Given the description of an element on the screen output the (x, y) to click on. 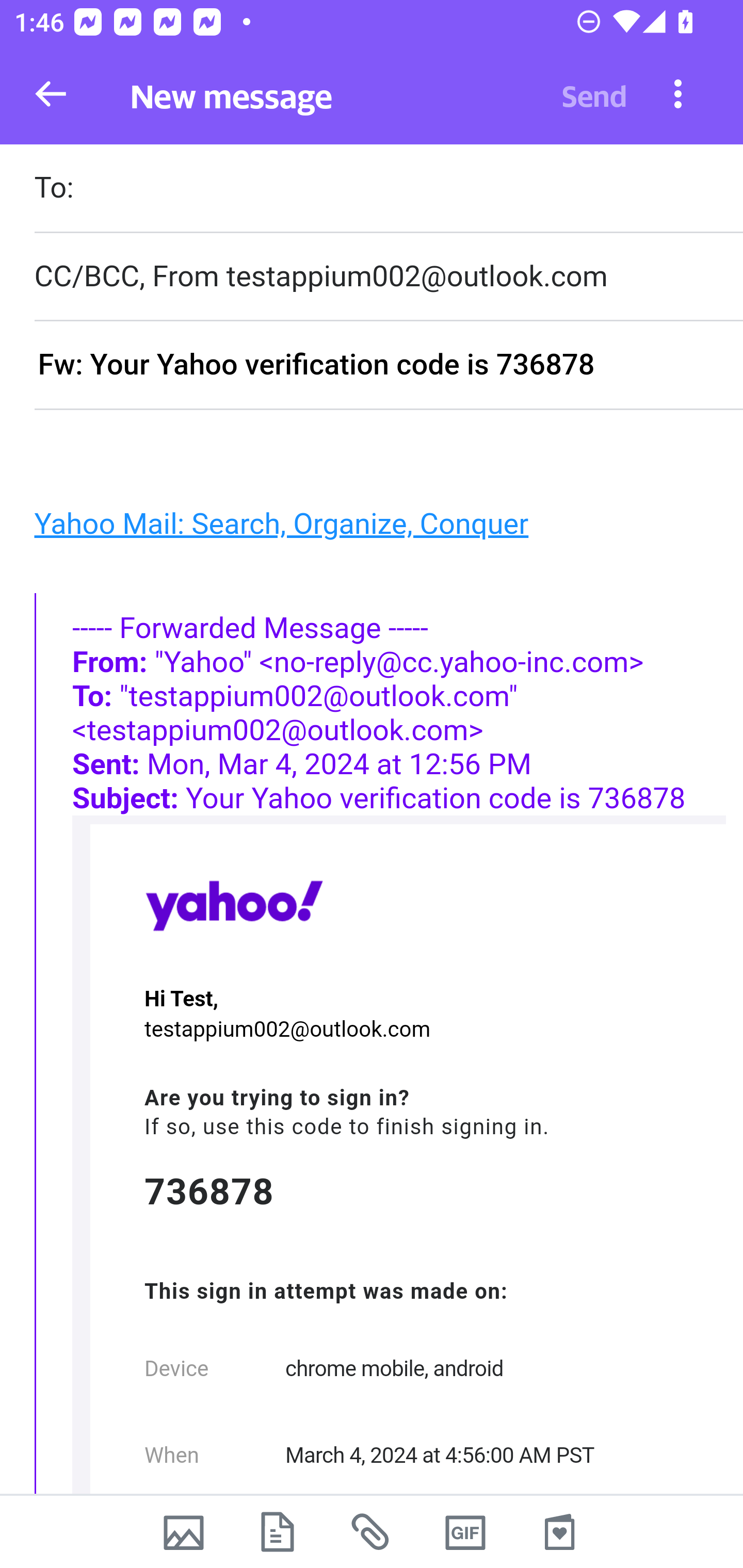
Back (50, 93)
Send (594, 93)
More options (677, 93)
To: (387, 189)
CC/BCC, From testappium002@outlook.com (387, 276)
Fw: Your Yahoo verification code is 736878 (387, 365)
Yahoo Mail: Search, Organize, Conquer (280, 522)
Camera photos (183, 1531)
Device files (277, 1531)
Recent attachments from mail (371, 1531)
GIFs (465, 1531)
Stationery (559, 1531)
